Given the description of an element on the screen output the (x, y) to click on. 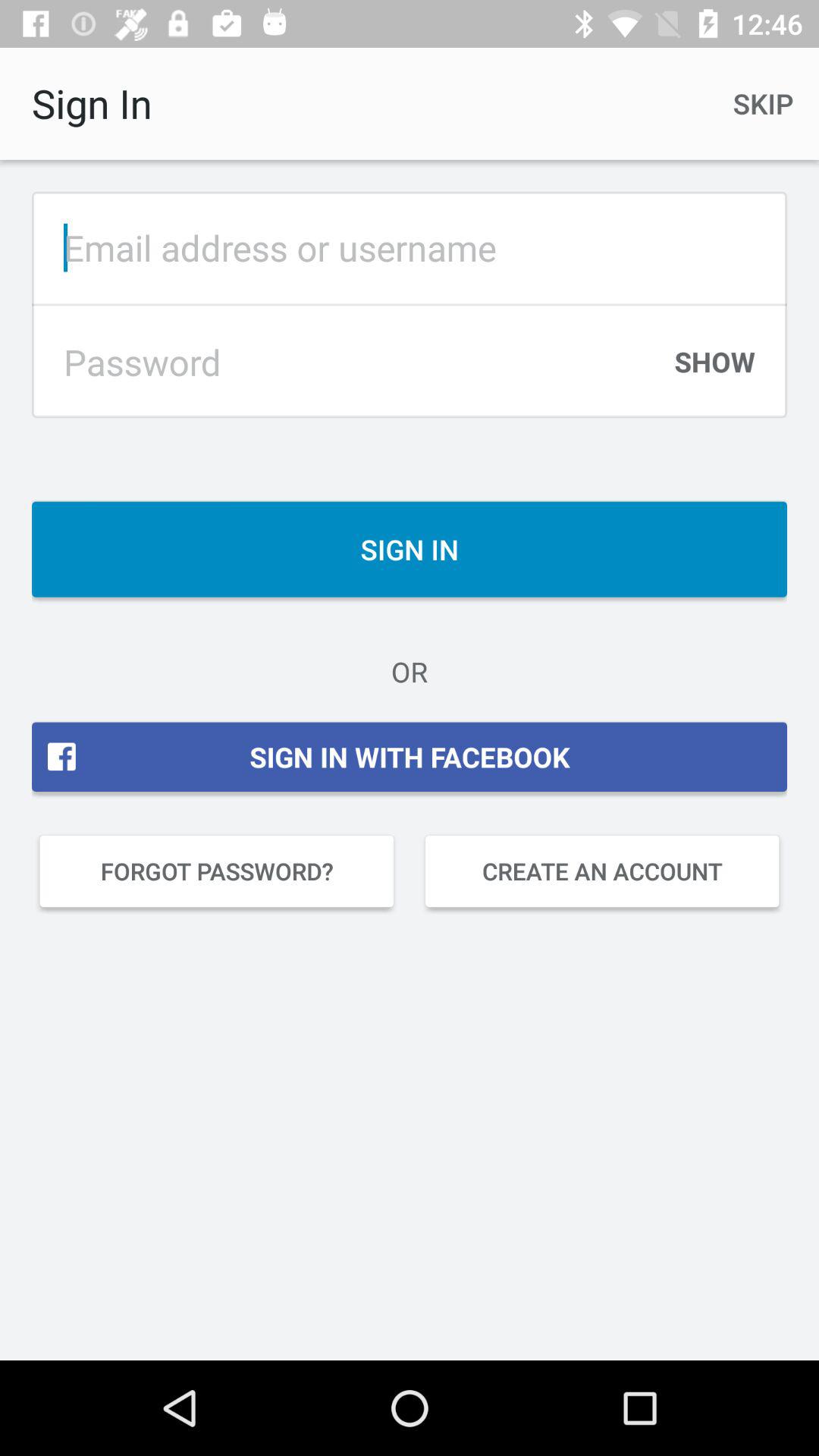
enter password (349, 361)
